Given the description of an element on the screen output the (x, y) to click on. 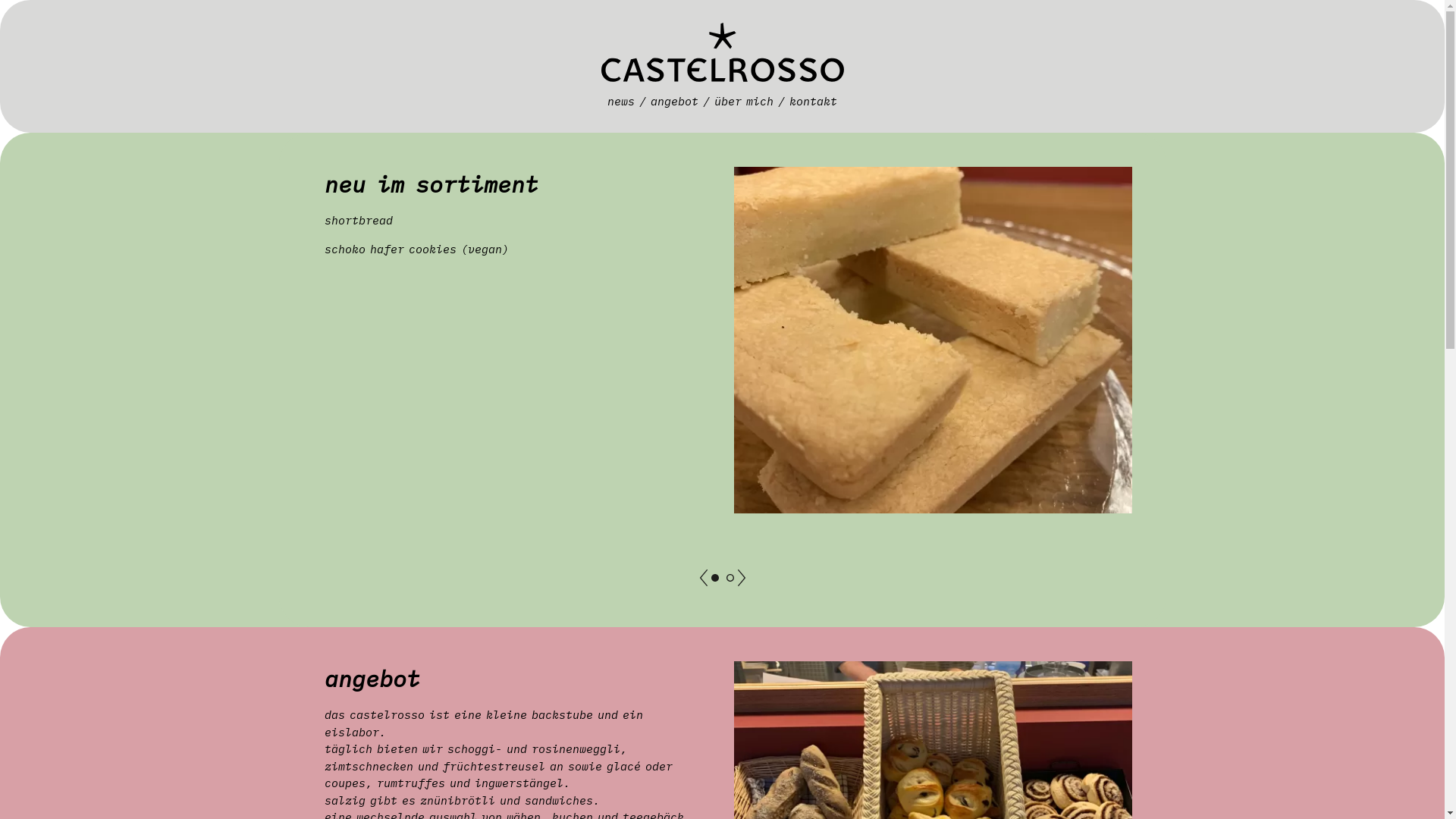
news Element type: text (620, 101)
kontakt Element type: text (813, 101)
next Element type: text (740, 577)
previous Element type: text (702, 577)
aktuellaktuell Element type: text (730, 577)
neu im sortimentneu im sortiment Element type: text (714, 577)
angebot Element type: text (674, 101)
